Given the description of an element on the screen output the (x, y) to click on. 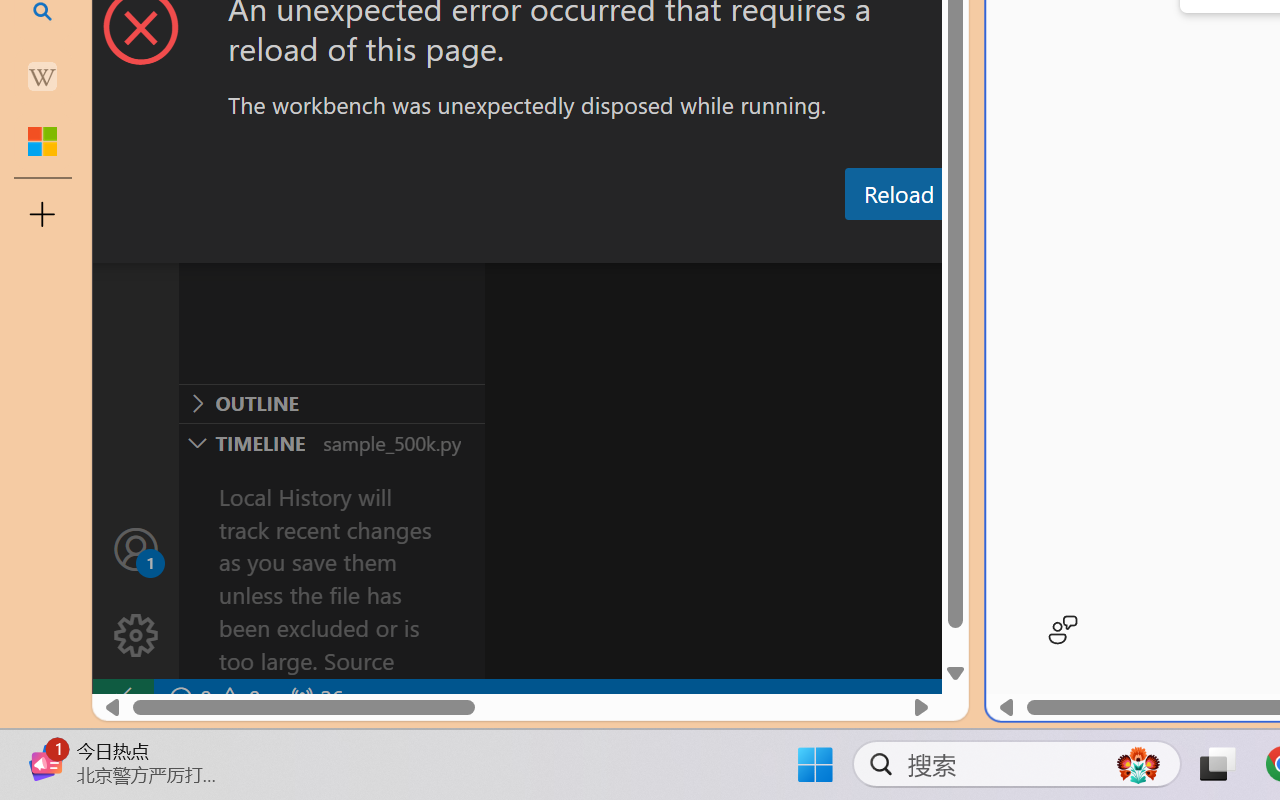
No Problems (212, 698)
Timeline Section (331, 442)
Reload (898, 193)
Outline Section (331, 403)
Problems (Ctrl+Shift+M) (567, 243)
